Given the description of an element on the screen output the (x, y) to click on. 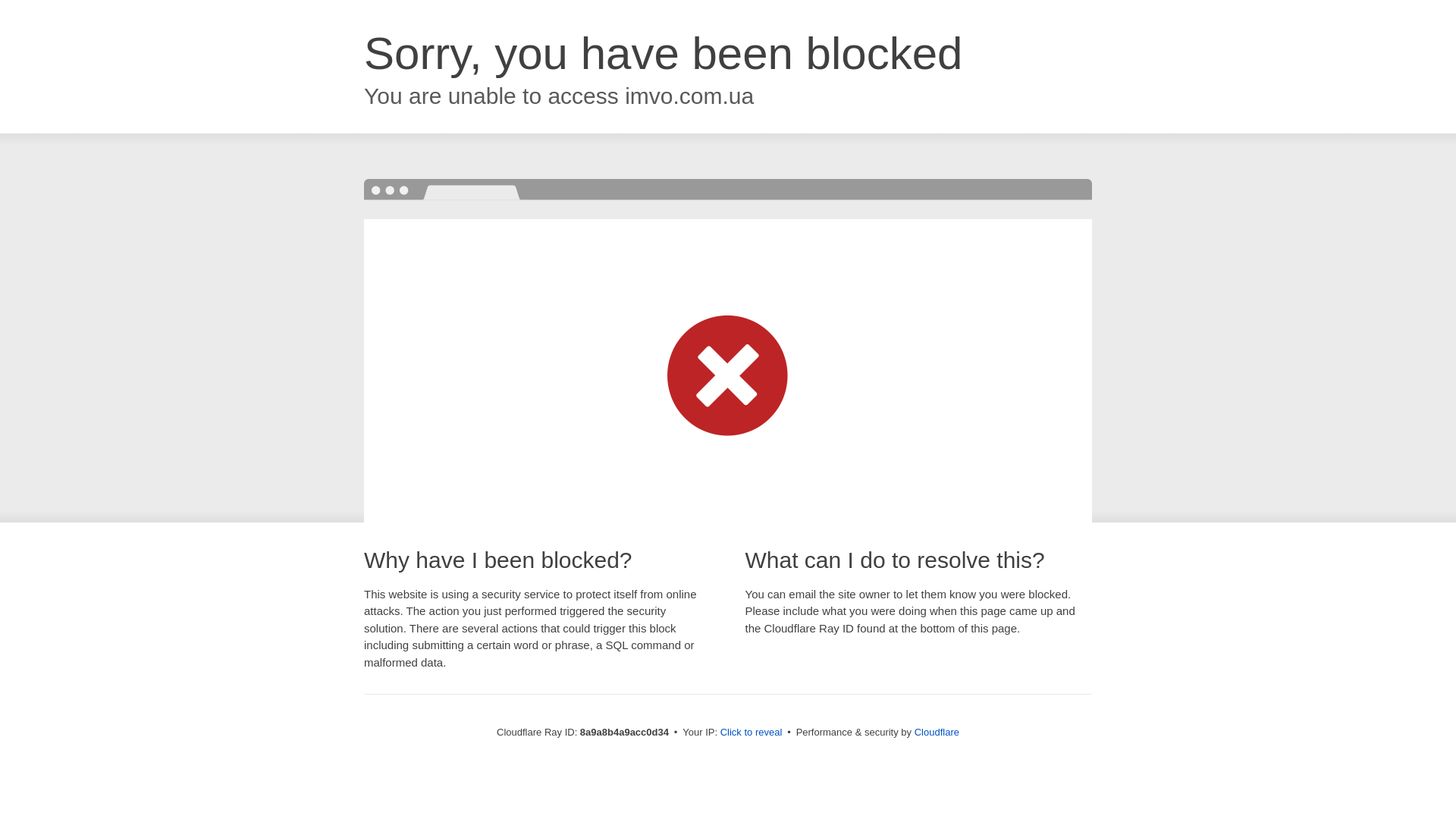
Click to reveal (751, 732)
Cloudflare (936, 731)
